Given the description of an element on the screen output the (x, y) to click on. 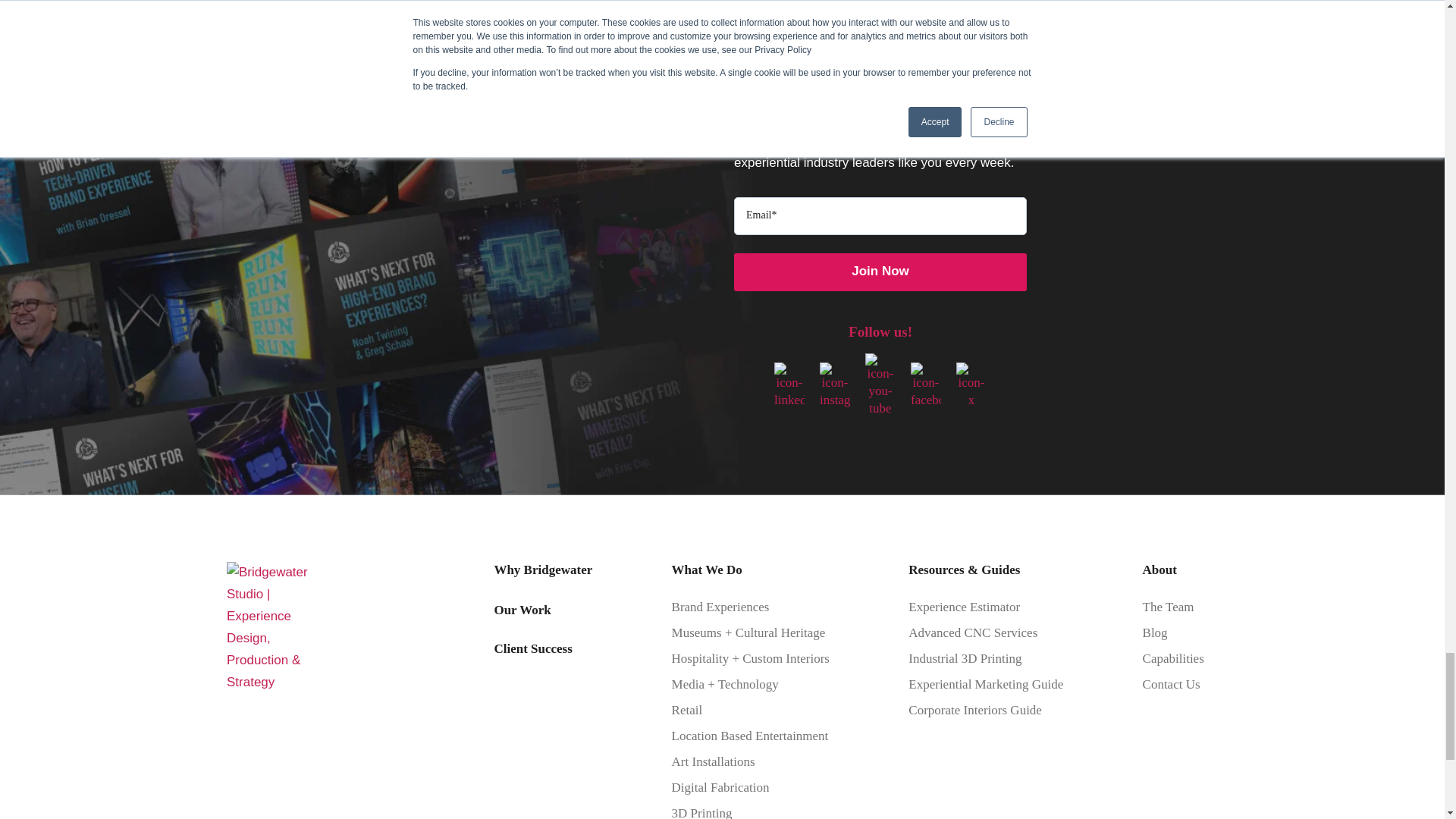
Join Now (879, 272)
